Given the description of an element on the screen output the (x, y) to click on. 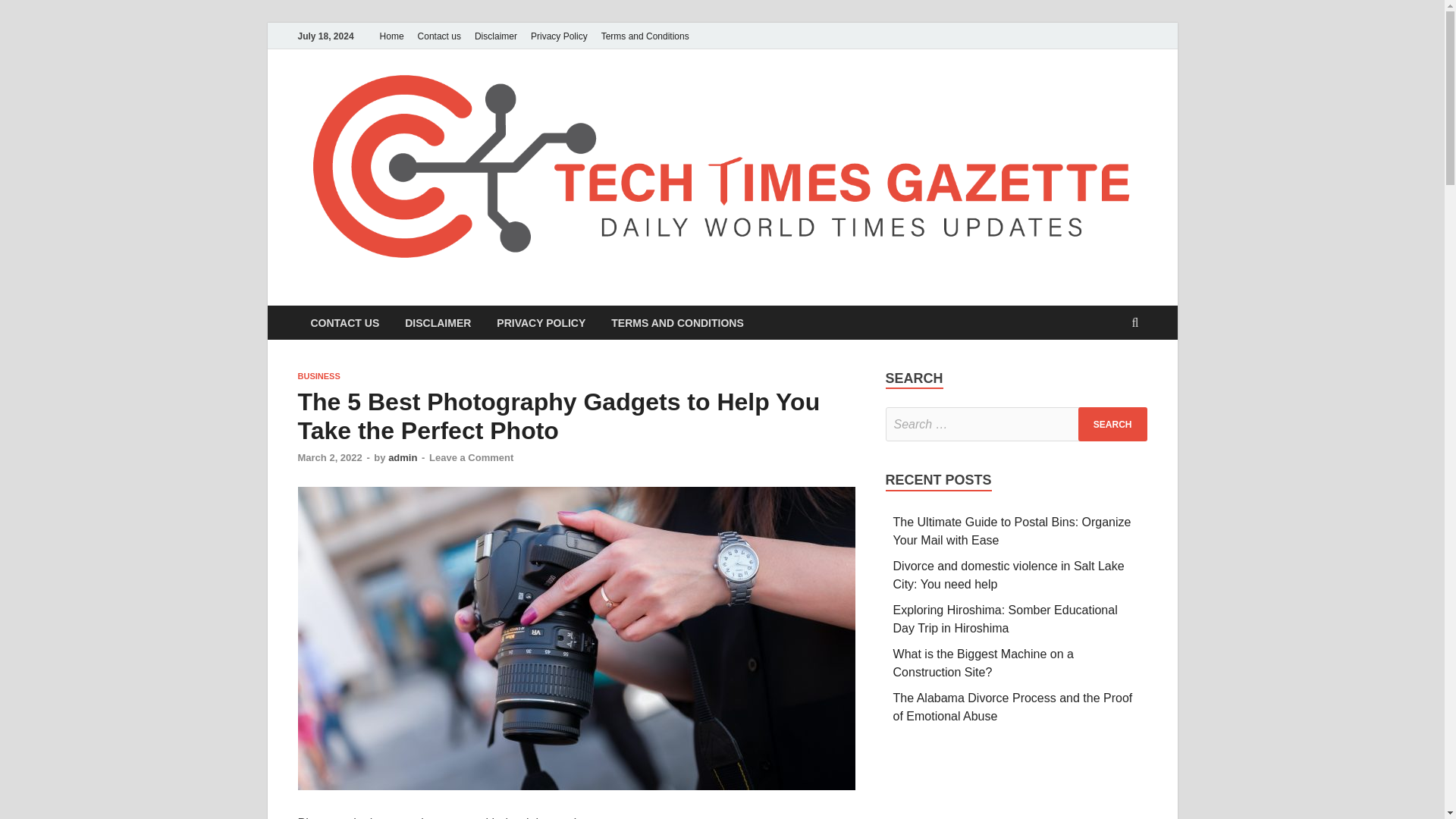
PRIVACY POLICY (540, 322)
Leave a Comment (471, 457)
Search (1112, 424)
Disclaimer (495, 35)
Terms and Conditions (644, 35)
TERMS AND CONDITIONS (676, 322)
CONTACT US (344, 322)
March 2, 2022 (329, 457)
Tech Times Gazette (435, 296)
admin (402, 457)
Contact us (438, 35)
Home (391, 35)
Search (1112, 424)
Privacy Policy (559, 35)
BUSINESS (318, 375)
